Given the description of an element on the screen output the (x, y) to click on. 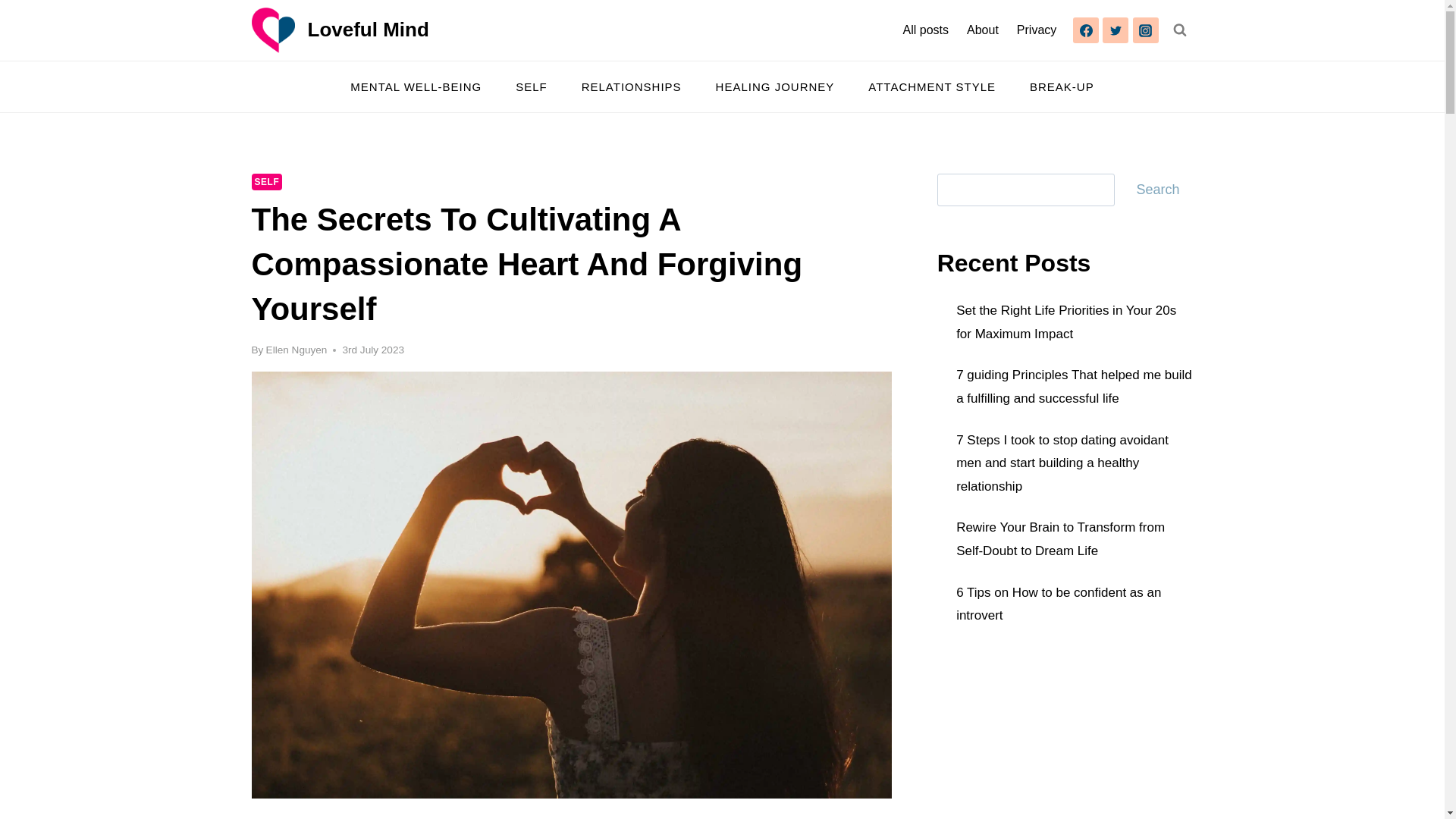
MENTAL WELL-BEING (416, 86)
About (982, 30)
SELF (266, 181)
RELATIONSHIPS (631, 86)
Loveful Mind (340, 30)
SELF (531, 86)
Privacy (1036, 30)
All posts (925, 30)
ATTACHMENT STYLE (932, 86)
BREAK-UP (1062, 86)
Ellen Nguyen (296, 349)
HEALING JOURNEY (774, 86)
